Given the description of an element on the screen output the (x, y) to click on. 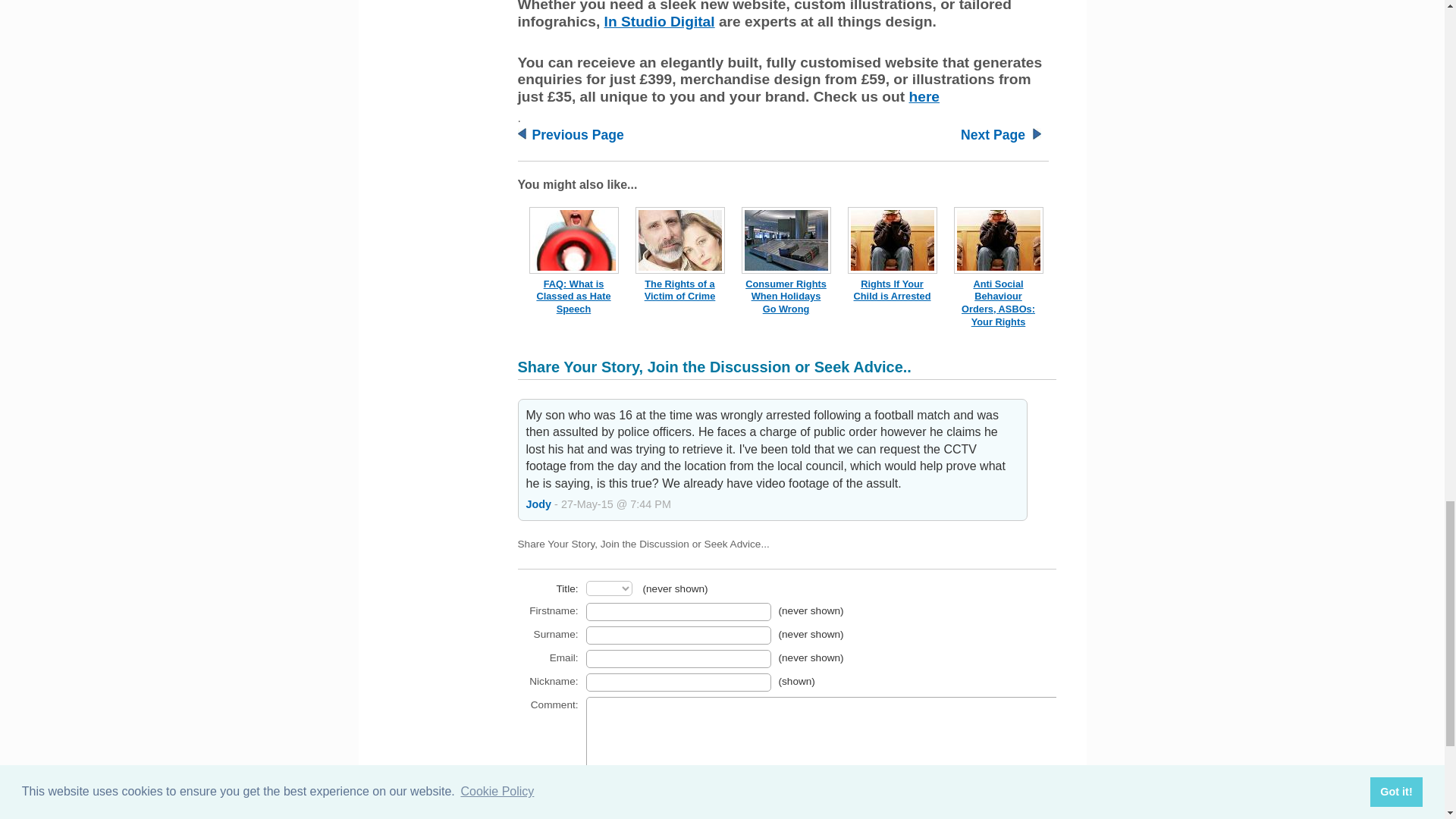
Anti Social Behaviour Orders, ASBOs: Your Rights (997, 302)
Rights If Your Child is Arrested (892, 290)
Consumer Rights When Holidays Go Wrong (786, 296)
Previous Page (578, 134)
The Rights of a Victim of Crime (680, 290)
here (924, 96)
In Studio Digital (659, 21)
FAQ: What is Classed as Hate Speech (572, 296)
Next Page (992, 134)
